Given the description of an element on the screen output the (x, y) to click on. 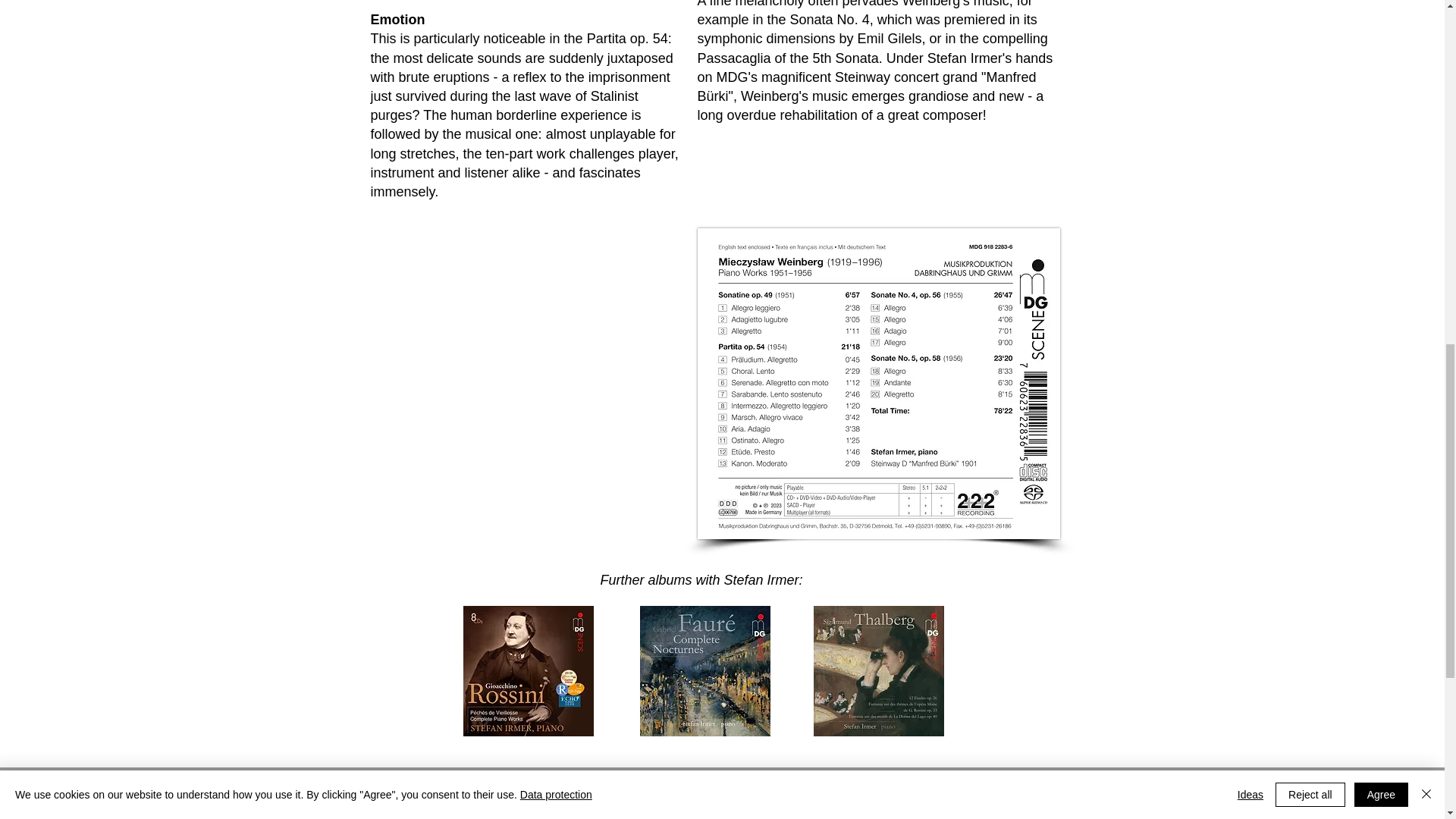
MDG 618 1551-2 (877, 671)
MDG 613 2098-2 (527, 671)
MDG 618 1626-2  (705, 671)
